Given the description of an element on the screen output the (x, y) to click on. 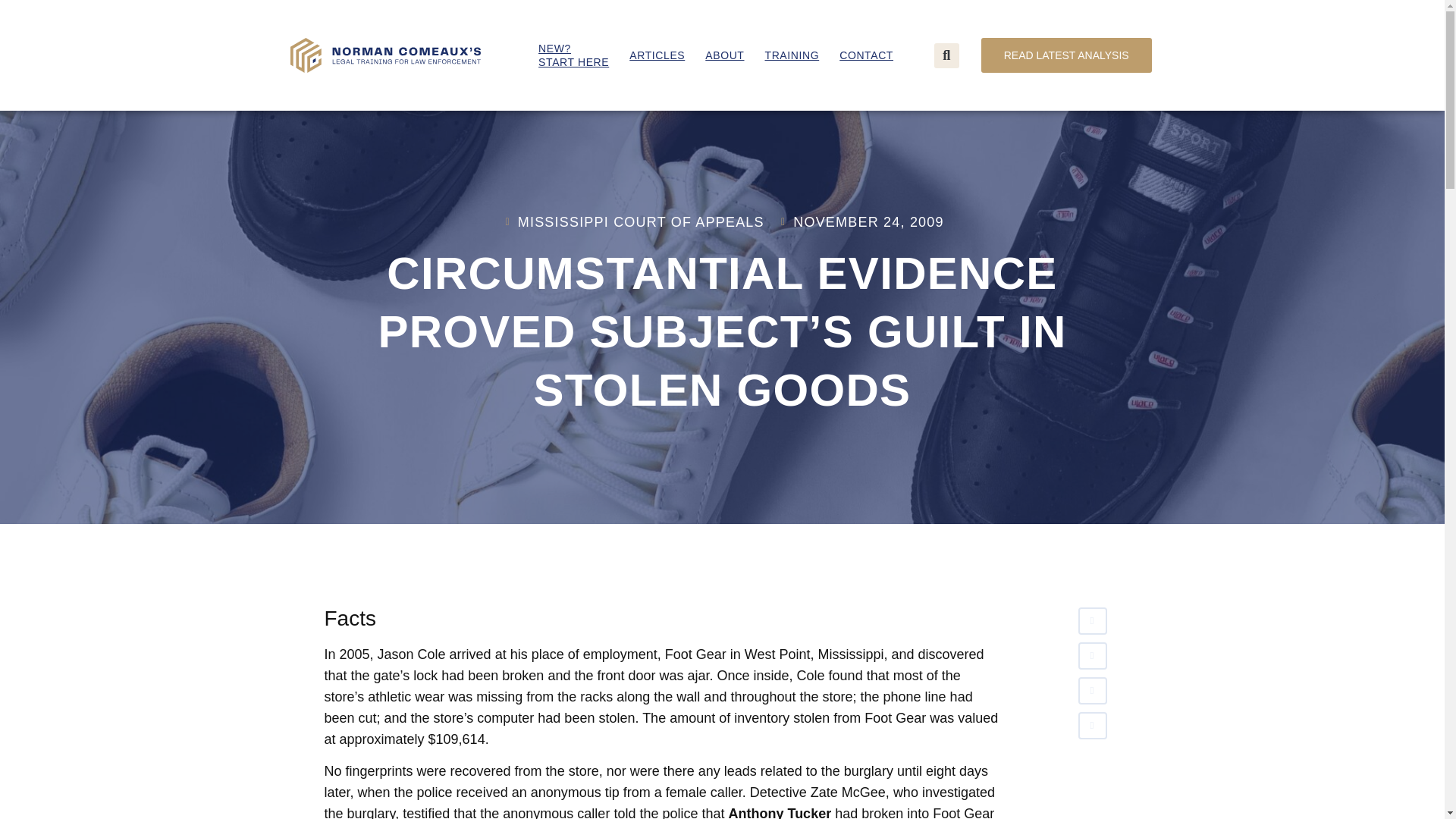
TRAINING (791, 54)
READ LATEST ANALYSIS (1066, 54)
ARTICLES (573, 54)
CONTACT (656, 54)
